Given the description of an element on the screen output the (x, y) to click on. 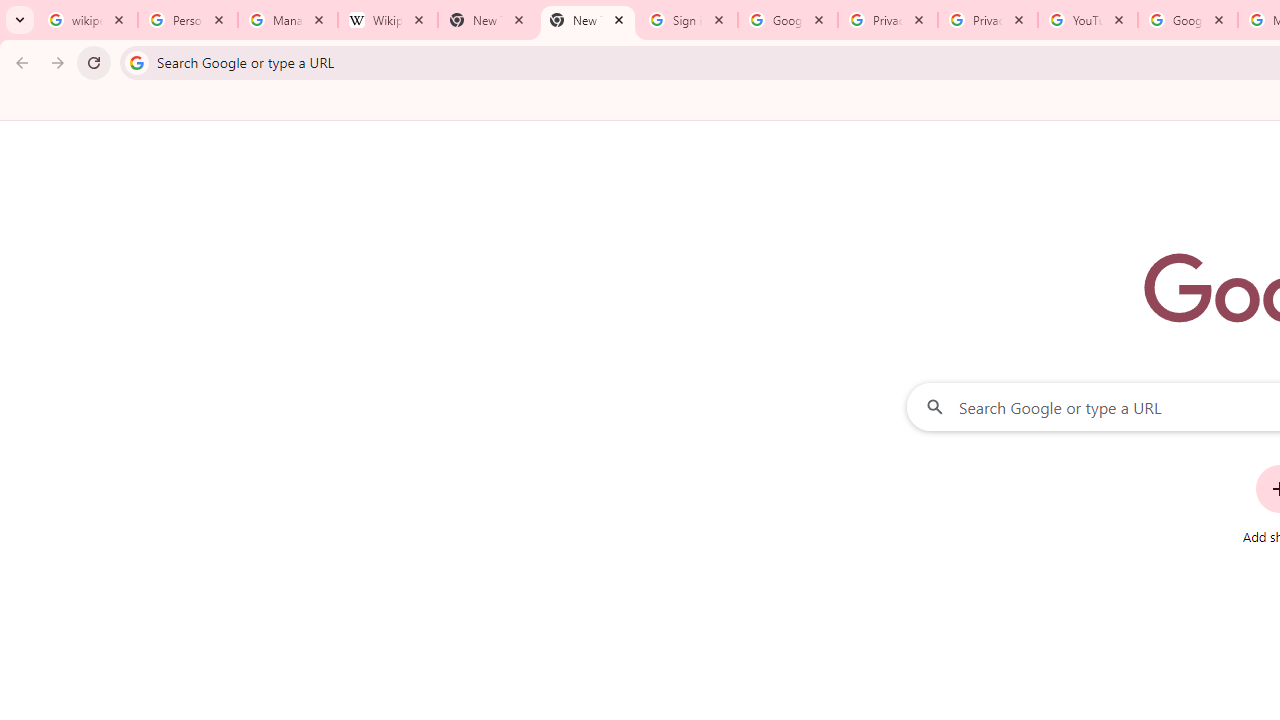
Search icon (136, 62)
Manage your Location History - Google Search Help (287, 20)
New Tab (587, 20)
Sign in - Google Accounts (687, 20)
Wikipedia:Edit requests - Wikipedia (387, 20)
Google Account Help (1187, 20)
New Tab (487, 20)
Google Drive: Sign-in (788, 20)
YouTube (1087, 20)
